Given the description of an element on the screen output the (x, y) to click on. 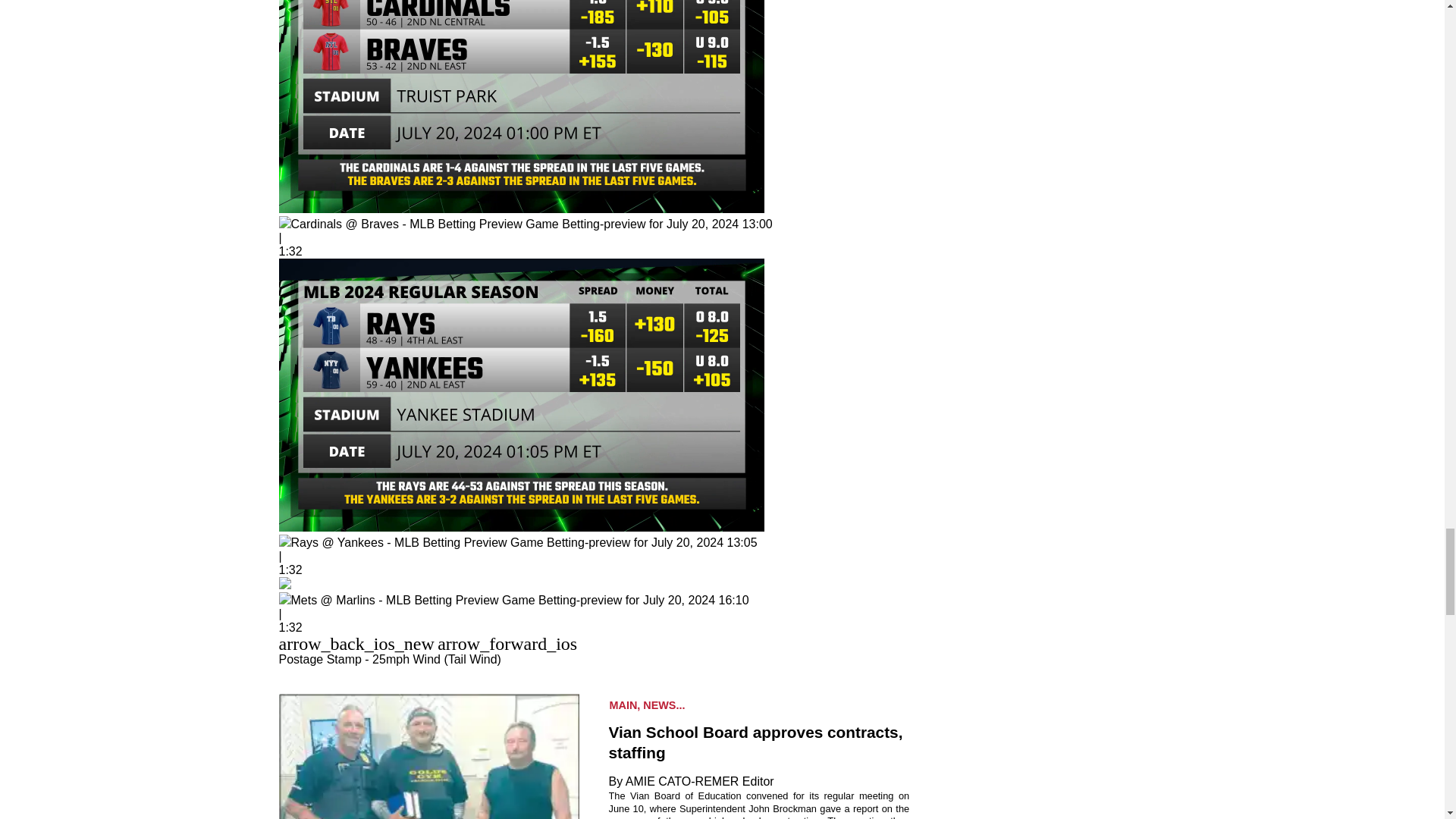
Vian School Board approves contracts, staffing (758, 742)
